Given the description of an element on the screen output the (x, y) to click on. 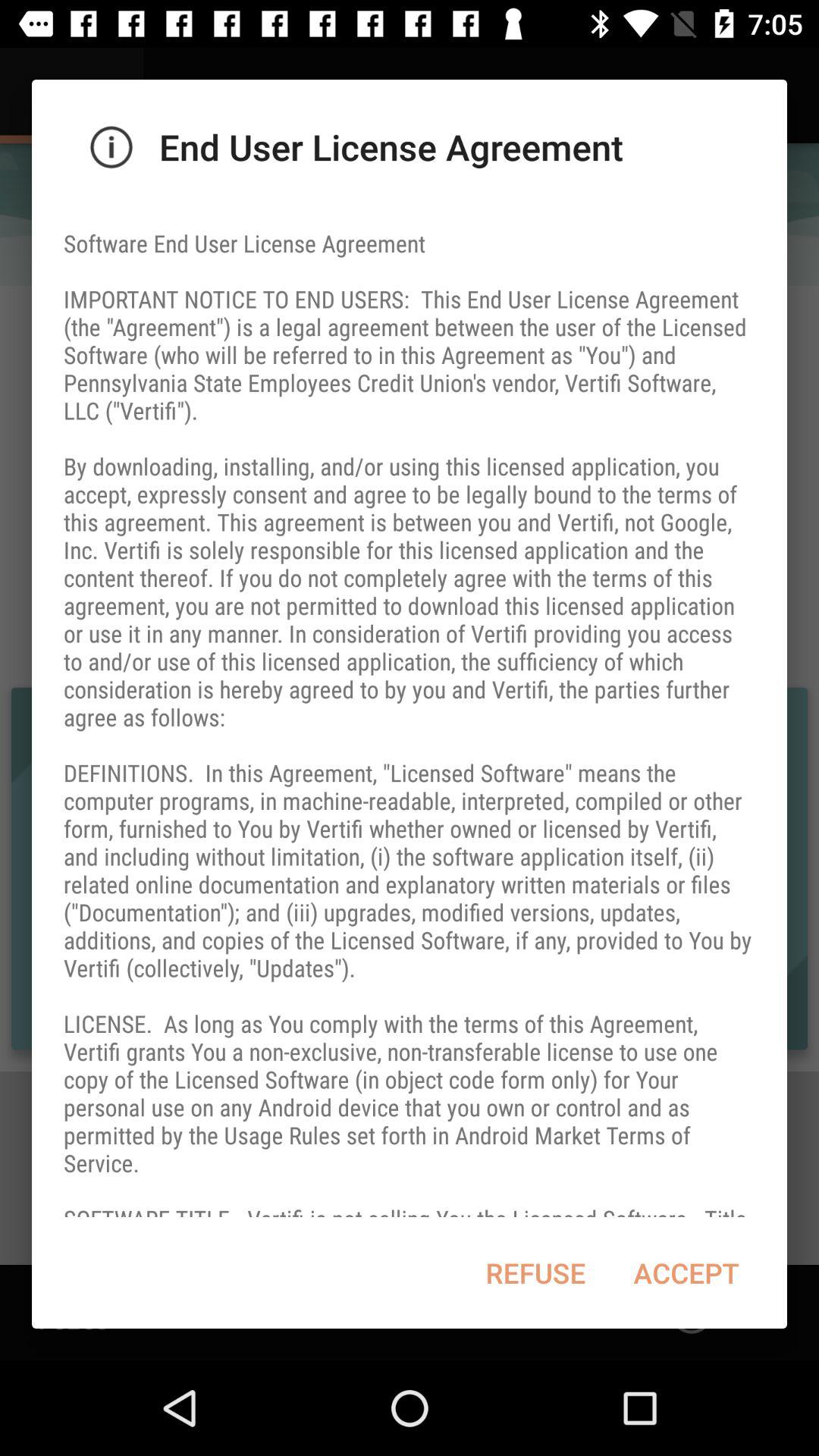
flip until the refuse item (535, 1272)
